Given the description of an element on the screen output the (x, y) to click on. 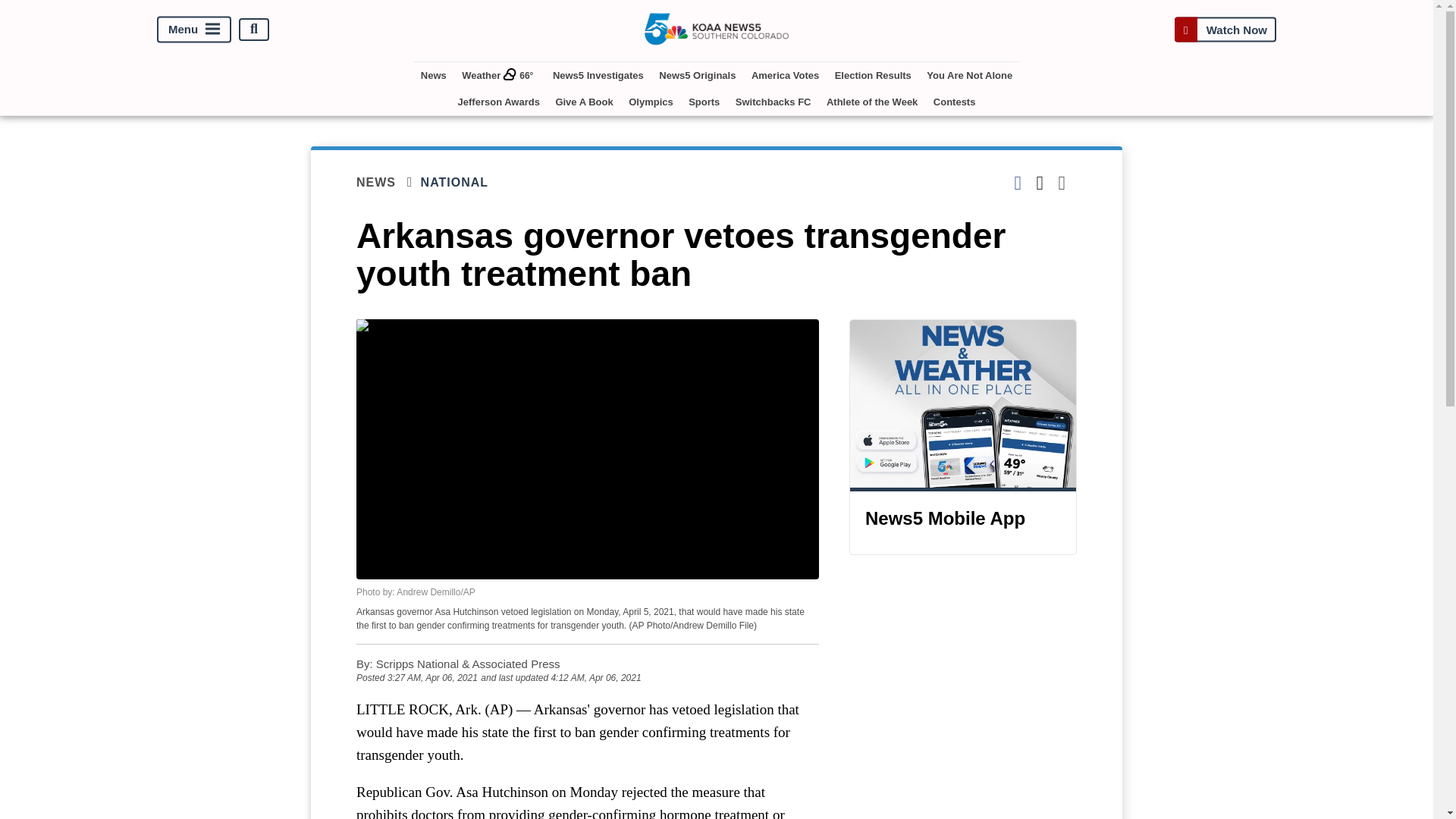
Menu (194, 28)
Watch Now (1224, 29)
